Given the description of an element on the screen output the (x, y) to click on. 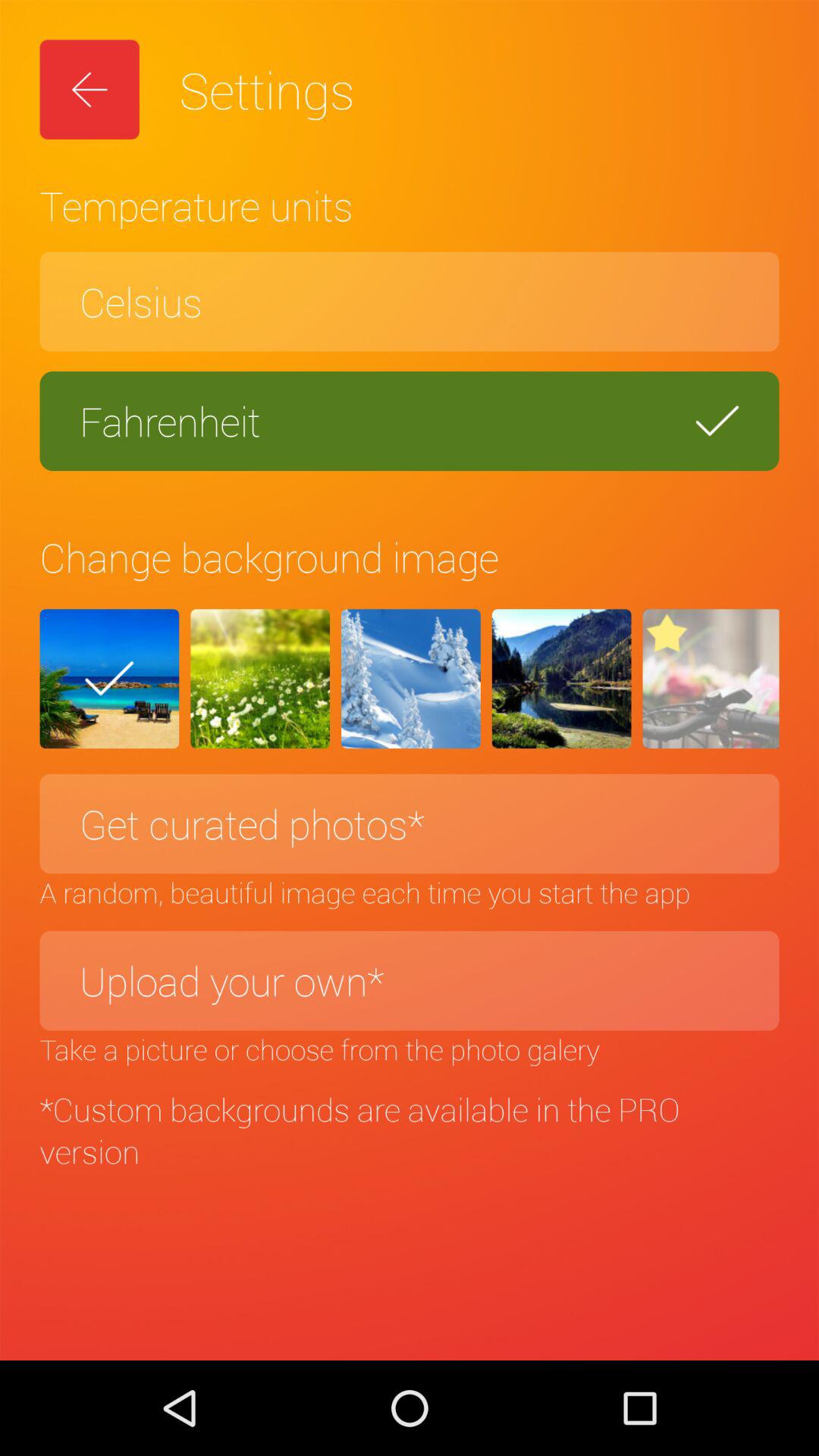
choose the icon below change background image icon (561, 678)
